Given the description of an element on the screen output the (x, y) to click on. 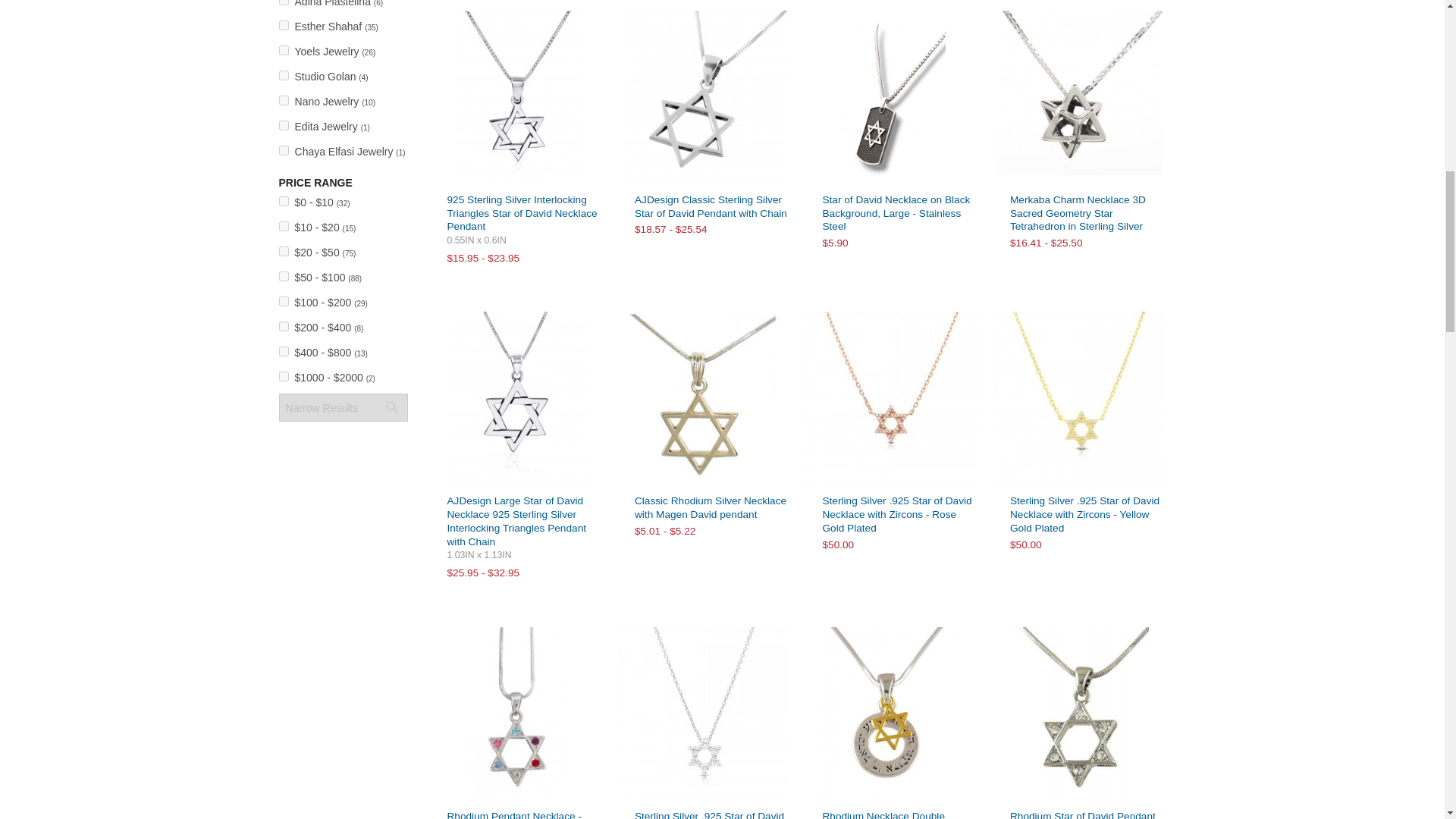
106 (283, 75)
0-10 (283, 201)
137 (283, 50)
200-400 (283, 326)
91 (283, 2)
100-200 (283, 301)
129 (283, 150)
10-20 (283, 225)
104 (283, 25)
20-50 (283, 251)
115 (283, 125)
50-100 (283, 276)
102 (283, 100)
